Given the description of an element on the screen output the (x, y) to click on. 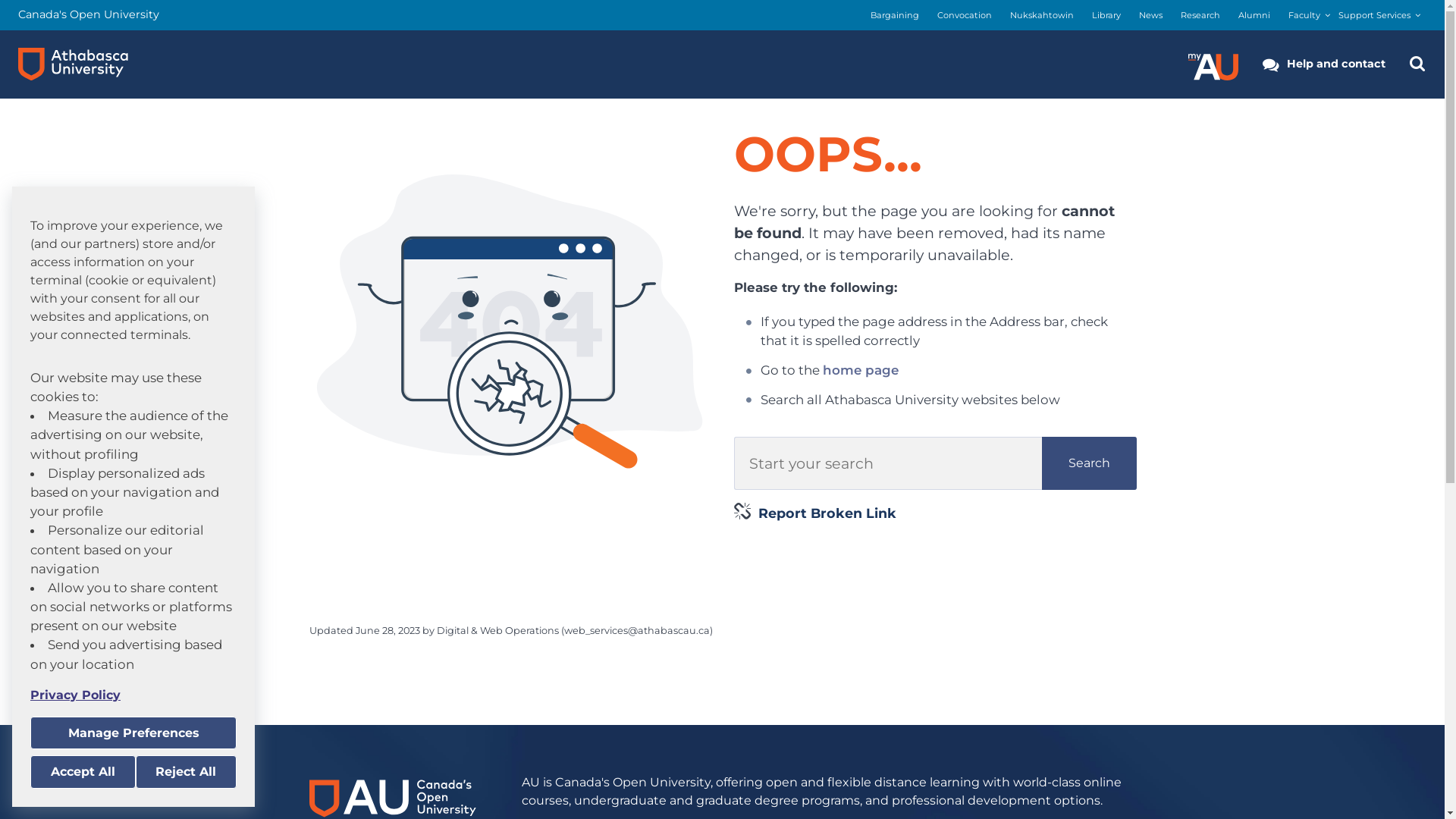
Skip to main content Element type: text (0, 0)
Faculty Element type: text (1304, 15)
Accept All Element type: text (82, 771)
News Element type: text (1150, 15)
Research Element type: text (1200, 15)
Privacy Policy Element type: text (133, 695)
Nukskahtowin Element type: text (1041, 15)
Library Element type: text (1106, 15)
Convocation Element type: text (964, 15)
Alumni Element type: text (1254, 15)
Manage Preferences Element type: text (133, 732)
Bargaining Element type: text (894, 15)
Search Element type: text (1088, 462)
Athabasca University logo Element type: text (73, 64)
Support Services Element type: text (1374, 15)
Help and contact Element type: text (1323, 64)
home page Element type: text (860, 369)
Reject All Element type: text (185, 771)
Search the Athabasca University Website Element type: hover (1417, 64)
